Given the description of an element on the screen output the (x, y) to click on. 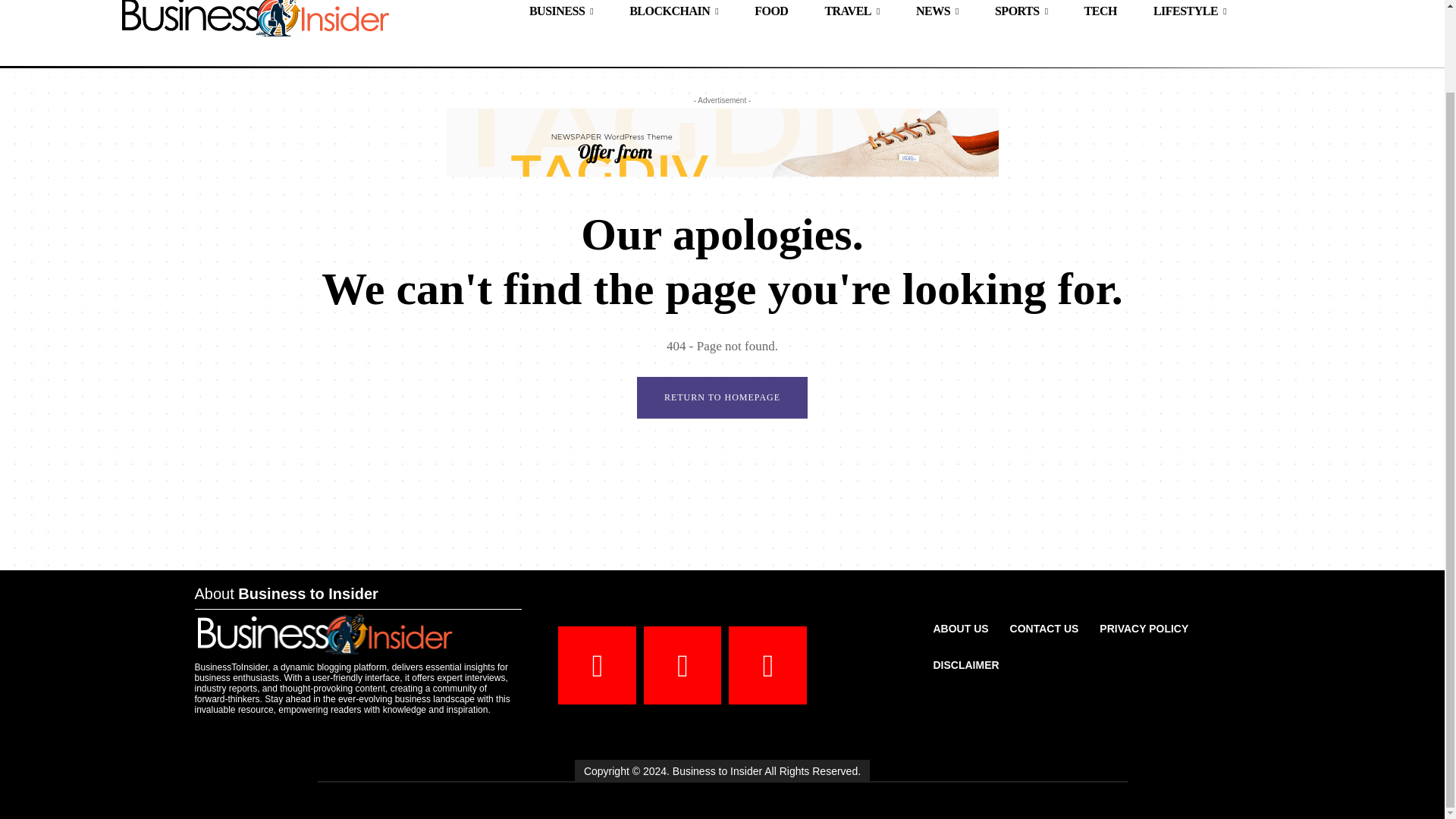
Facebook (596, 665)
BUSINESS (561, 15)
BLOCKCHAIN (673, 15)
Return to Homepage (722, 397)
Instagram (682, 665)
FOOD (771, 15)
TRAVEL (852, 15)
Twitter (767, 665)
